Given the description of an element on the screen output the (x, y) to click on. 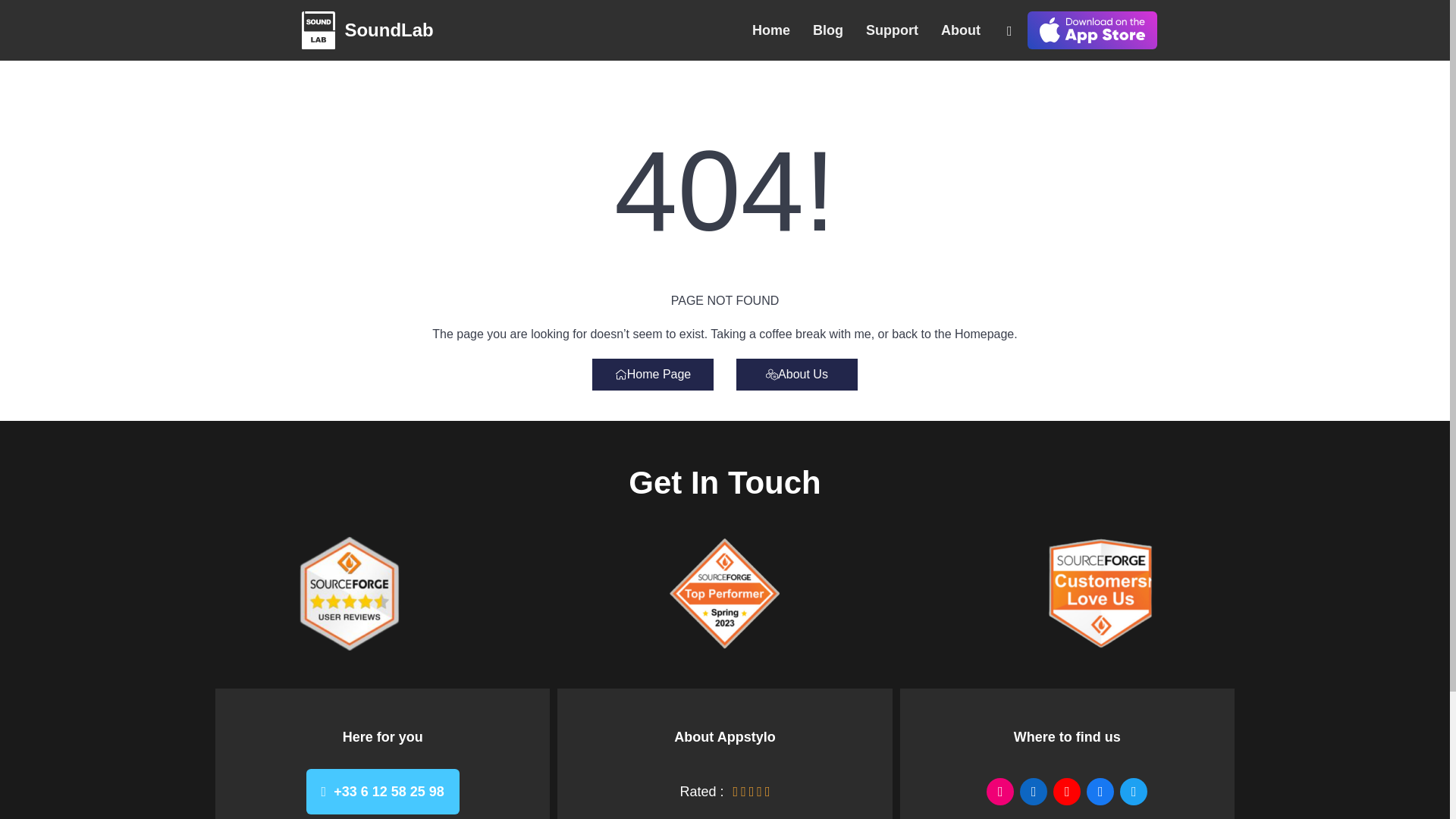
SoundLab (367, 30)
About Us (796, 374)
Home Page (652, 374)
